Given the description of an element on the screen output the (x, y) to click on. 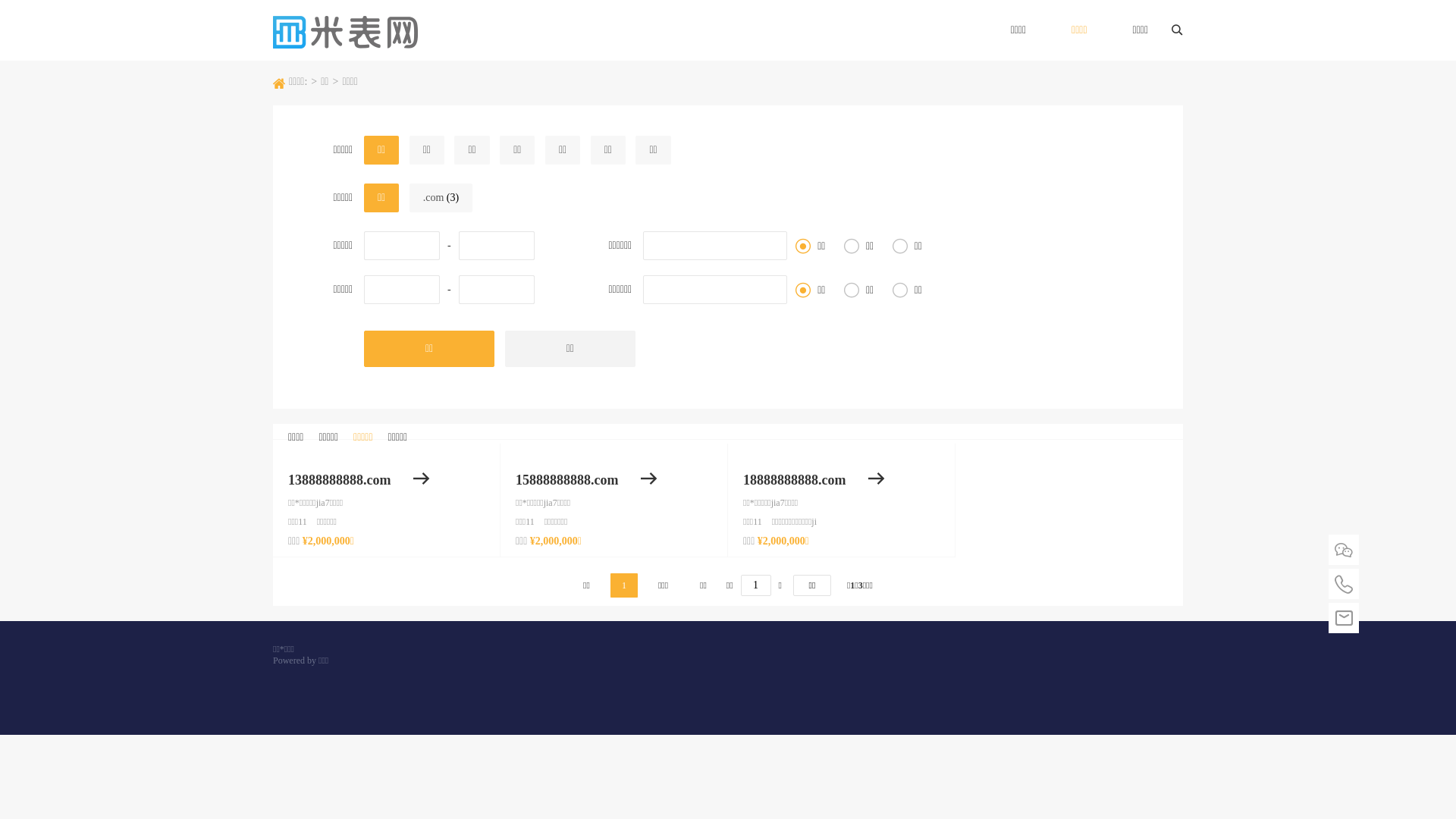
1 Element type: text (623, 585)
.com (3) Element type: text (440, 197)
